Given the description of an element on the screen output the (x, y) to click on. 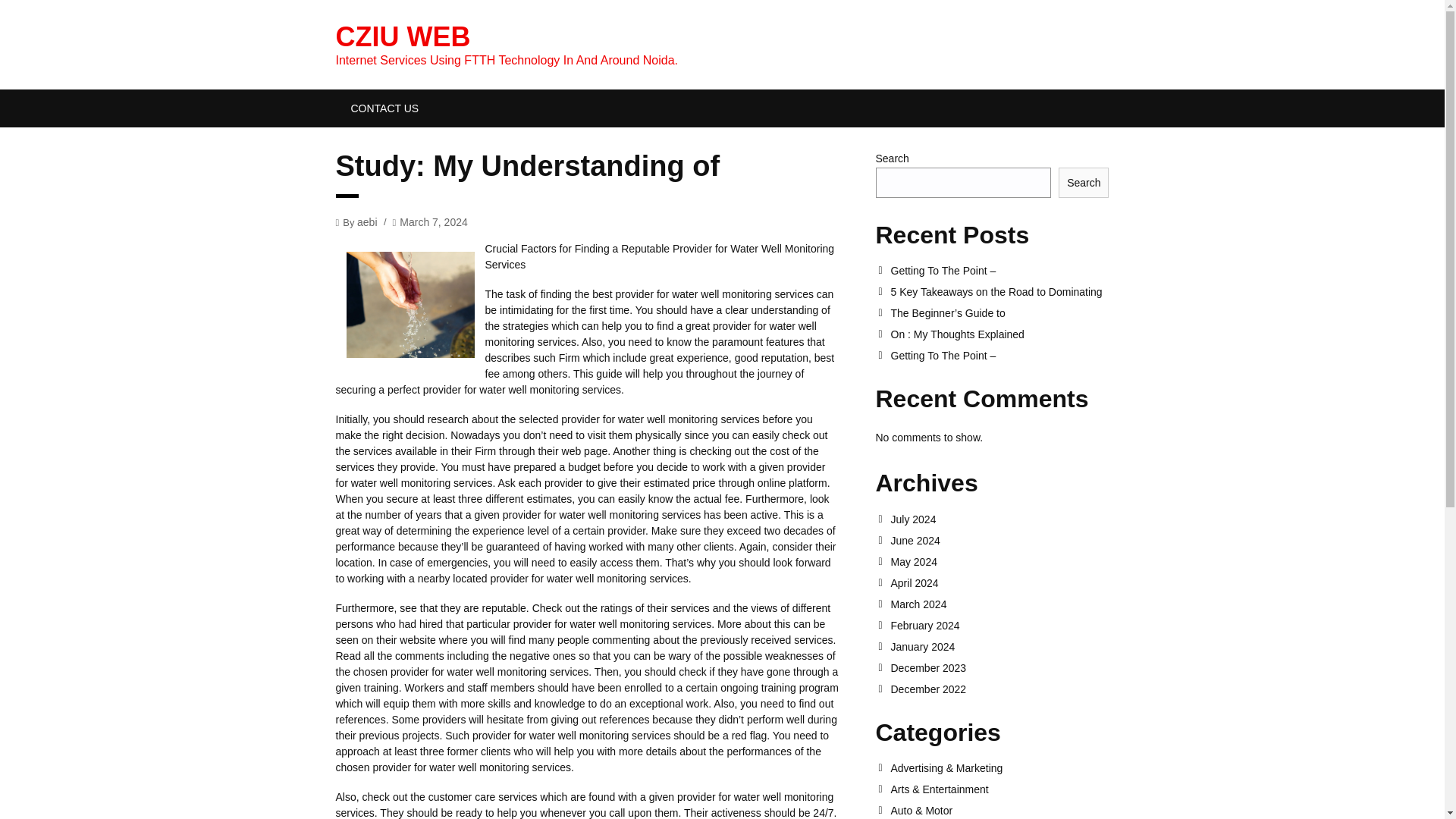
February 2024 (998, 625)
January 2024 (998, 646)
December 2022 (998, 689)
aebi (366, 221)
June 2024 (998, 540)
March 7, 2024 (432, 221)
CZIU WEB (402, 36)
July 2024 (998, 519)
On : My Thoughts Explained (998, 334)
CONTACT US (383, 108)
April 2024 (998, 582)
Search (1083, 182)
March 2024 (998, 604)
December 2023 (998, 667)
Internet Services Using FTTH Technology In And Around Noida. (402, 36)
